Given the description of an element on the screen output the (x, y) to click on. 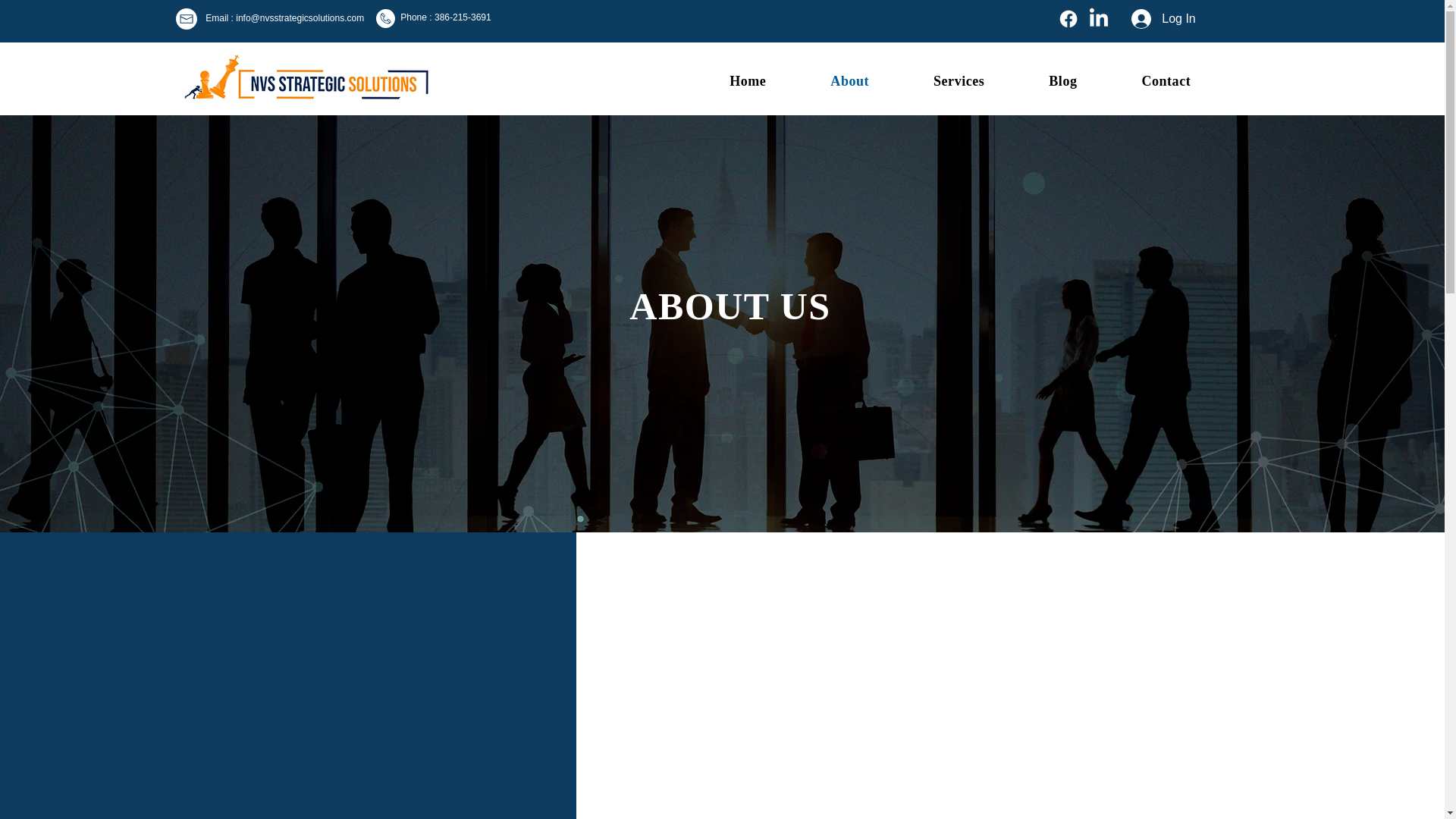
Home (725, 81)
Log In (1163, 18)
Blog (1040, 81)
About (938, 81)
Phone : 386-215-3691 (827, 81)
Services (445, 17)
Contact (936, 81)
